Given the description of an element on the screen output the (x, y) to click on. 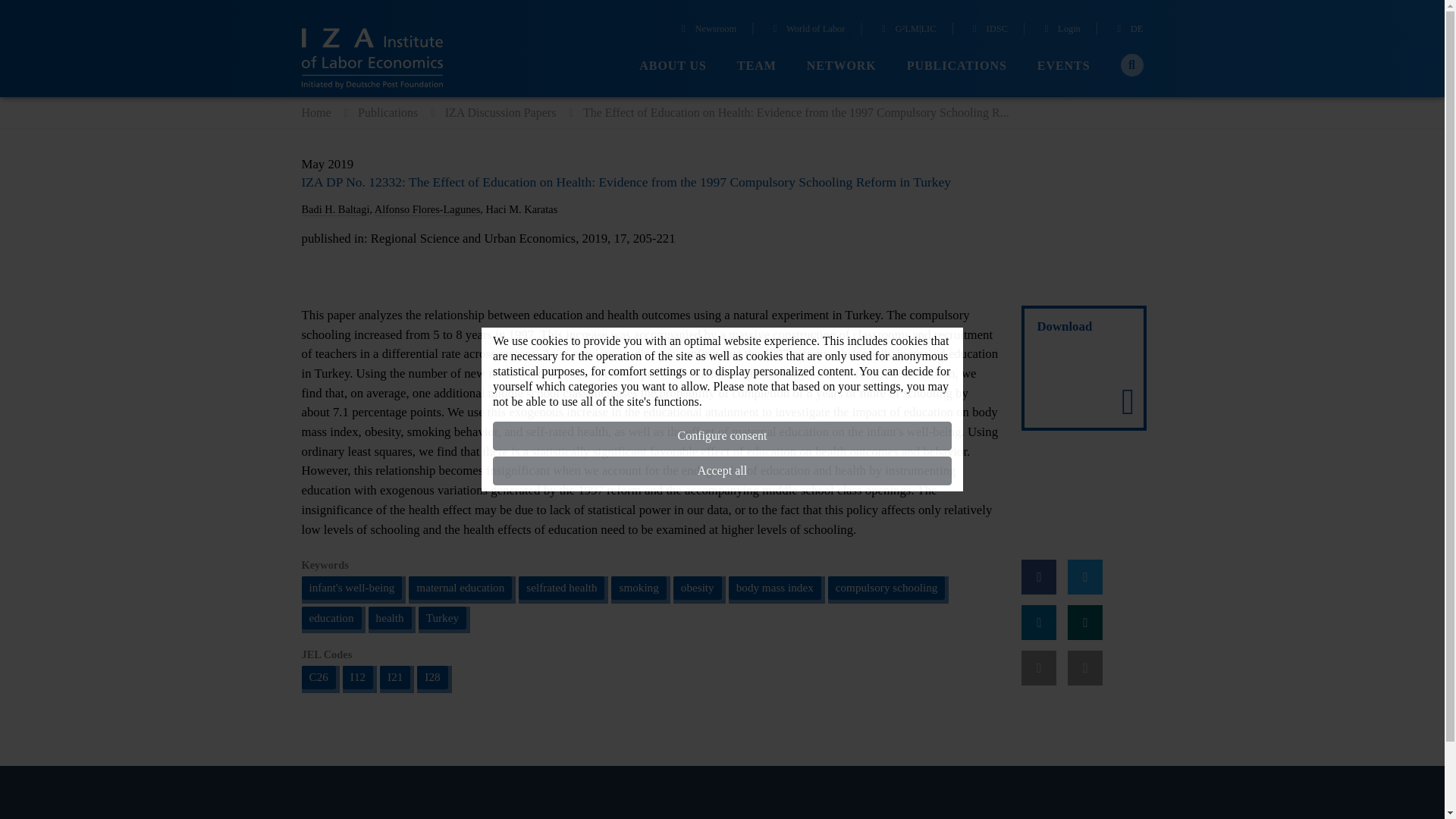
Newsroom (707, 30)
NETWORK (841, 66)
PUBLICATIONS (957, 66)
ABOUT US (672, 66)
World of Labor (807, 30)
Login (1060, 30)
TEAM (756, 66)
DE (1127, 30)
IDSC (988, 30)
EVENTS (1063, 66)
